Given the description of an element on the screen output the (x, y) to click on. 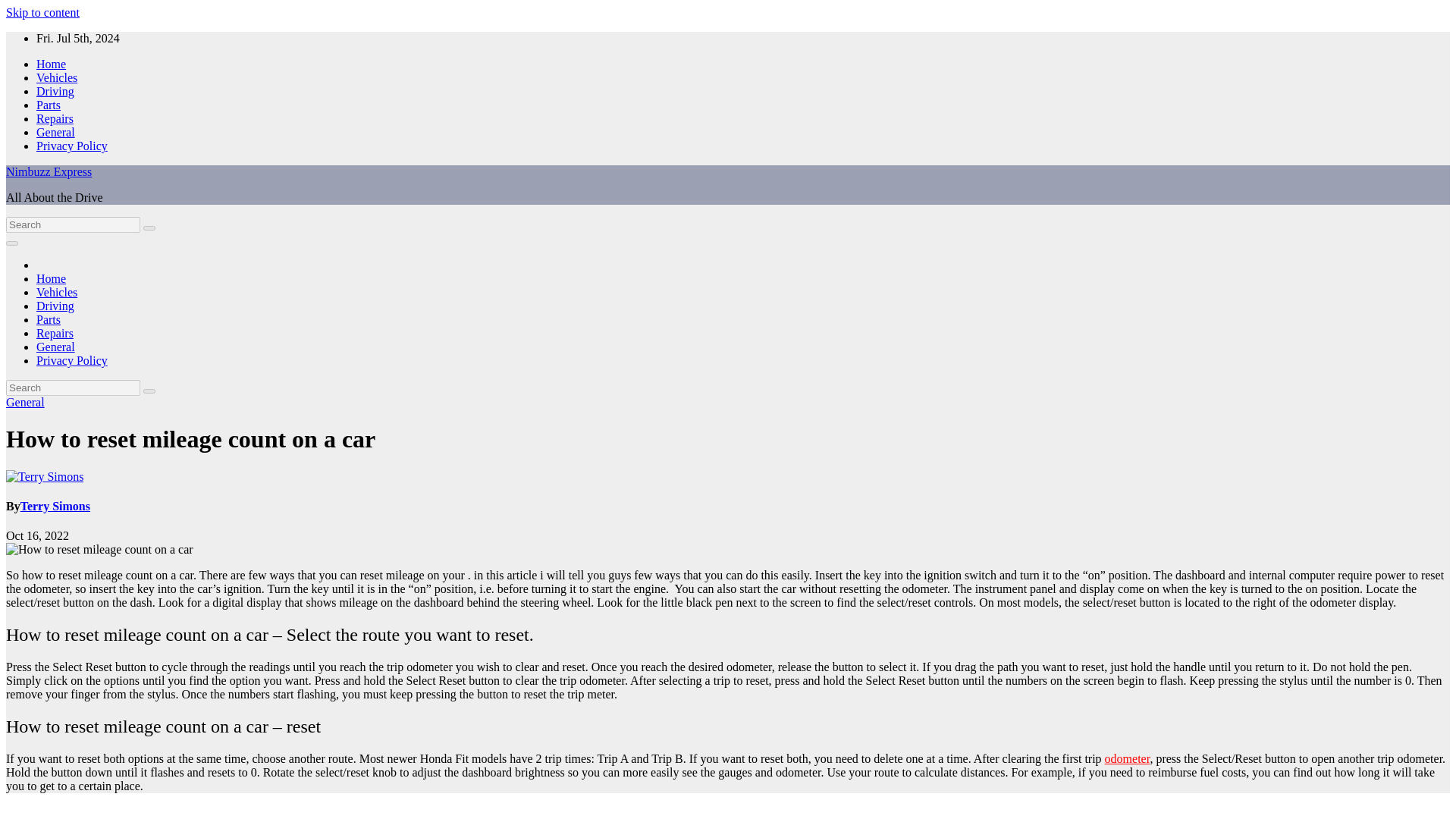
Repairs (55, 118)
Driving (55, 305)
Nimbuzz Express (48, 171)
Vehicles (56, 291)
Vehicles (56, 77)
General (55, 346)
Home (50, 63)
Skip to content (42, 11)
Driving (55, 305)
How to reset mileage count on a car (190, 438)
Privacy Policy (71, 359)
Privacy Policy (71, 145)
Driving (55, 91)
odometer (1127, 758)
Parts (48, 318)
